Given the description of an element on the screen output the (x, y) to click on. 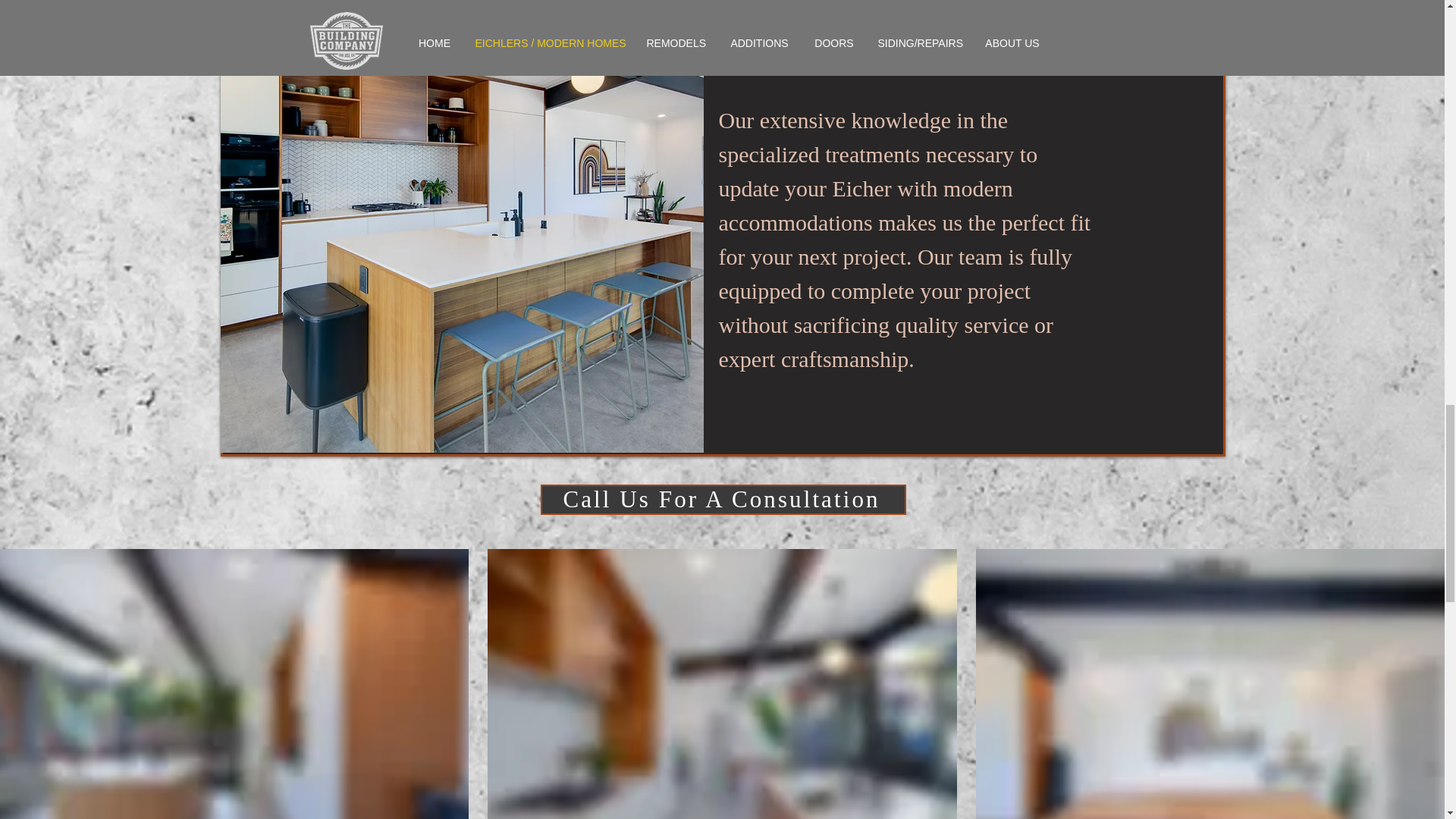
Call Us For A Consultation (722, 499)
